Given the description of an element on the screen output the (x, y) to click on. 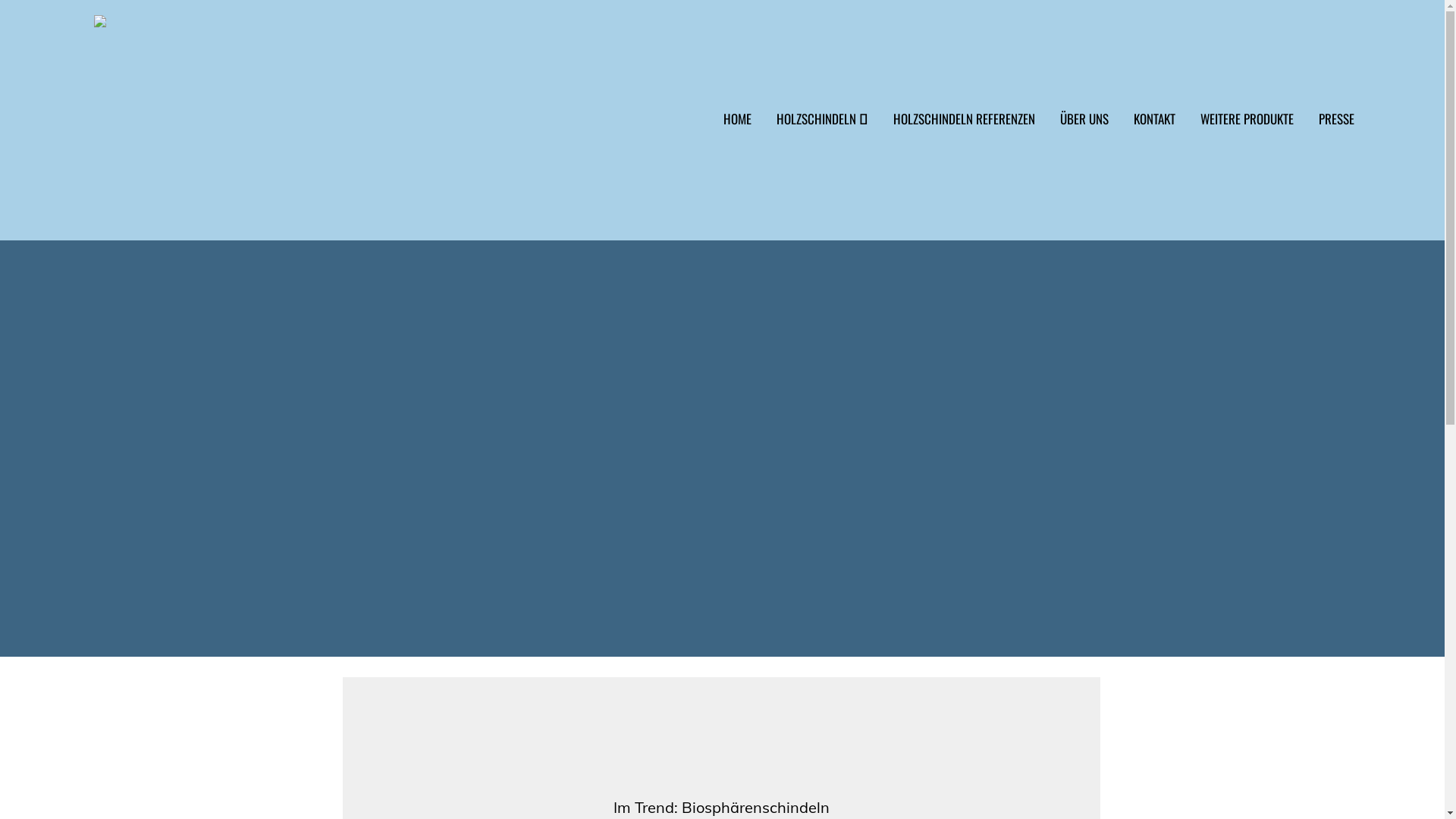
PRESSE Element type: text (1328, 127)
HOLZSCHINDELN REFERENZEN Element type: text (956, 127)
WEITERE PRODUKTE Element type: text (1239, 127)
HOME Element type: text (729, 127)
KONTAKT Element type: text (1146, 127)
